Given the description of an element on the screen output the (x, y) to click on. 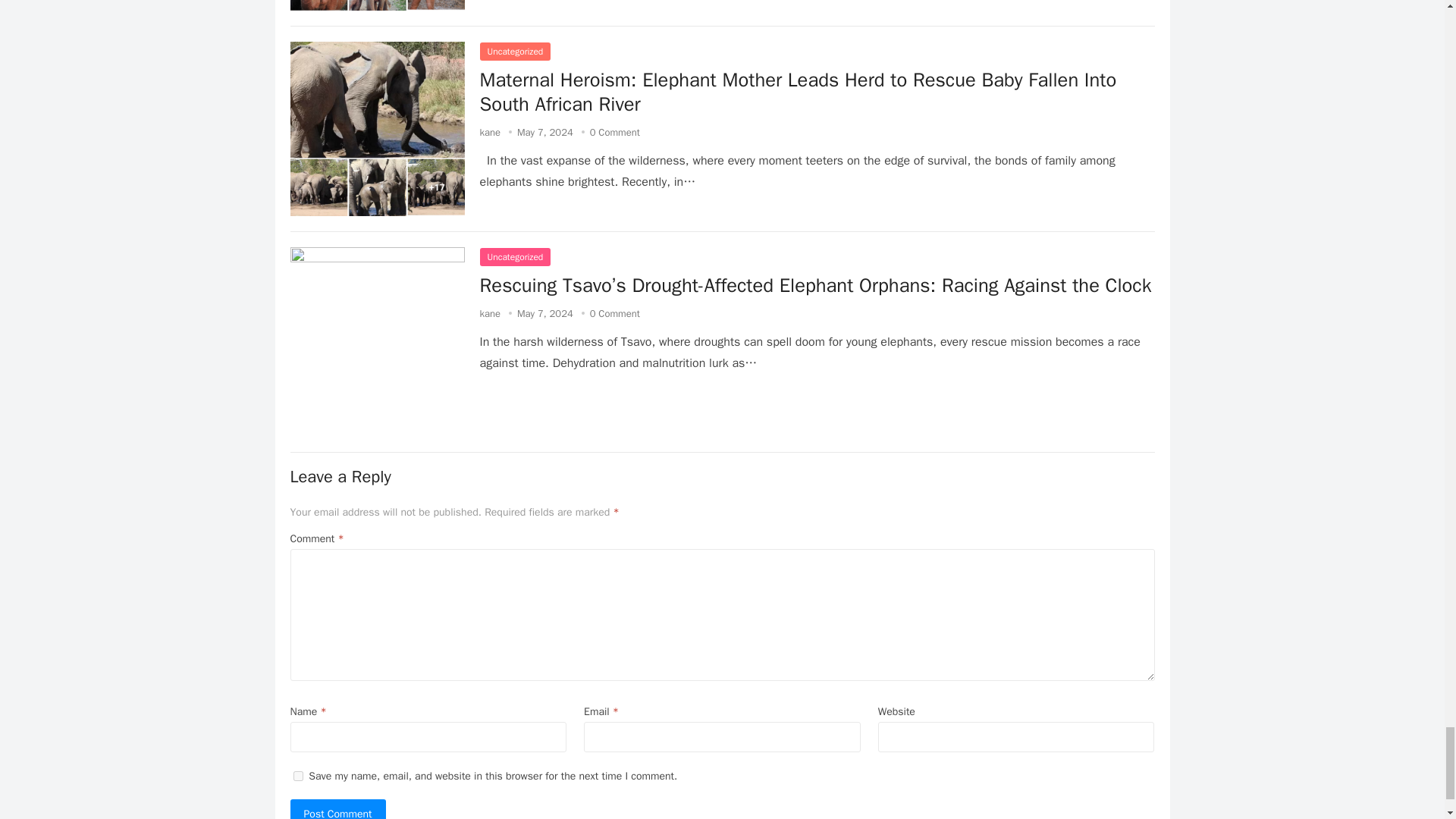
yes (297, 776)
Posts by kane (489, 132)
Posts by kane (489, 313)
Post Comment (337, 809)
